Given the description of an element on the screen output the (x, y) to click on. 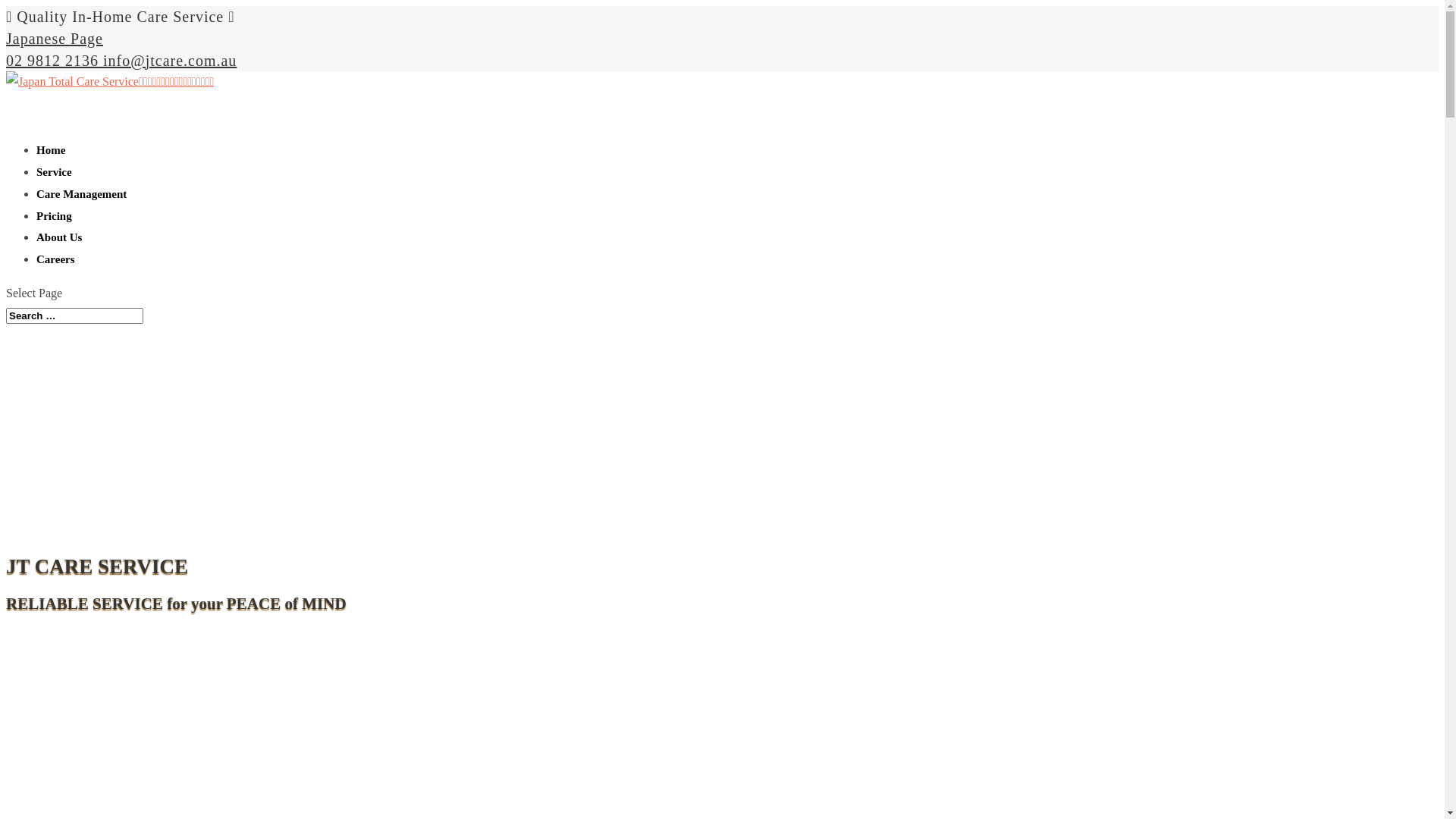
Home Element type: text (50, 167)
Pricing Element type: text (54, 233)
About Us Element type: text (58, 254)
Careers Element type: text (55, 276)
Japanese Page Element type: text (54, 38)
02 9812 2136 Element type: text (54, 60)
Search for: Element type: hover (74, 315)
info@jtcare.com.au Element type: text (169, 60)
Service Element type: text (54, 189)
Care Management Element type: text (81, 211)
